Given the description of an element on the screen output the (x, y) to click on. 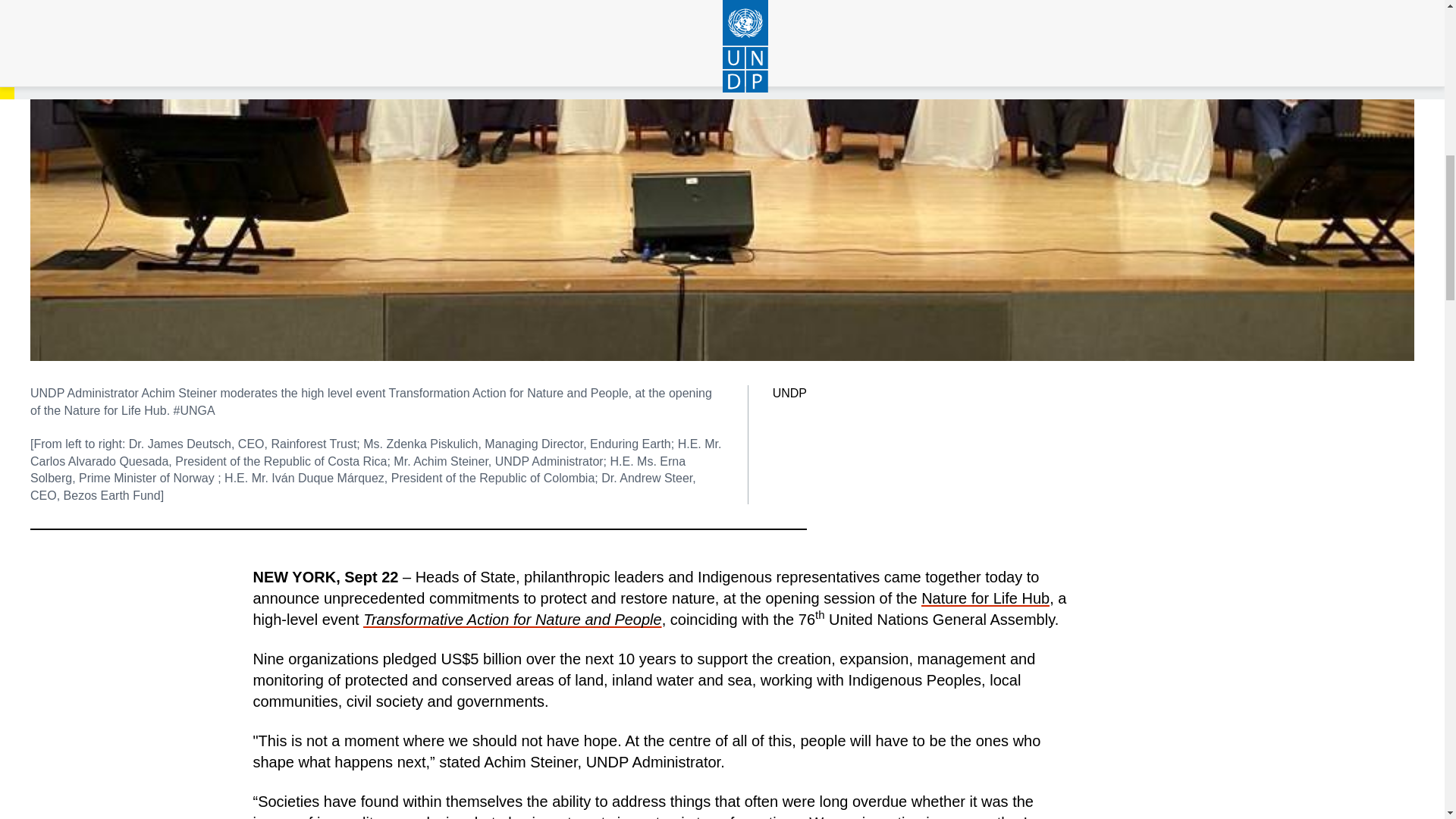
Transformative Action for Nature and People (512, 619)
Nature for Life Hub (985, 597)
